Given the description of an element on the screen output the (x, y) to click on. 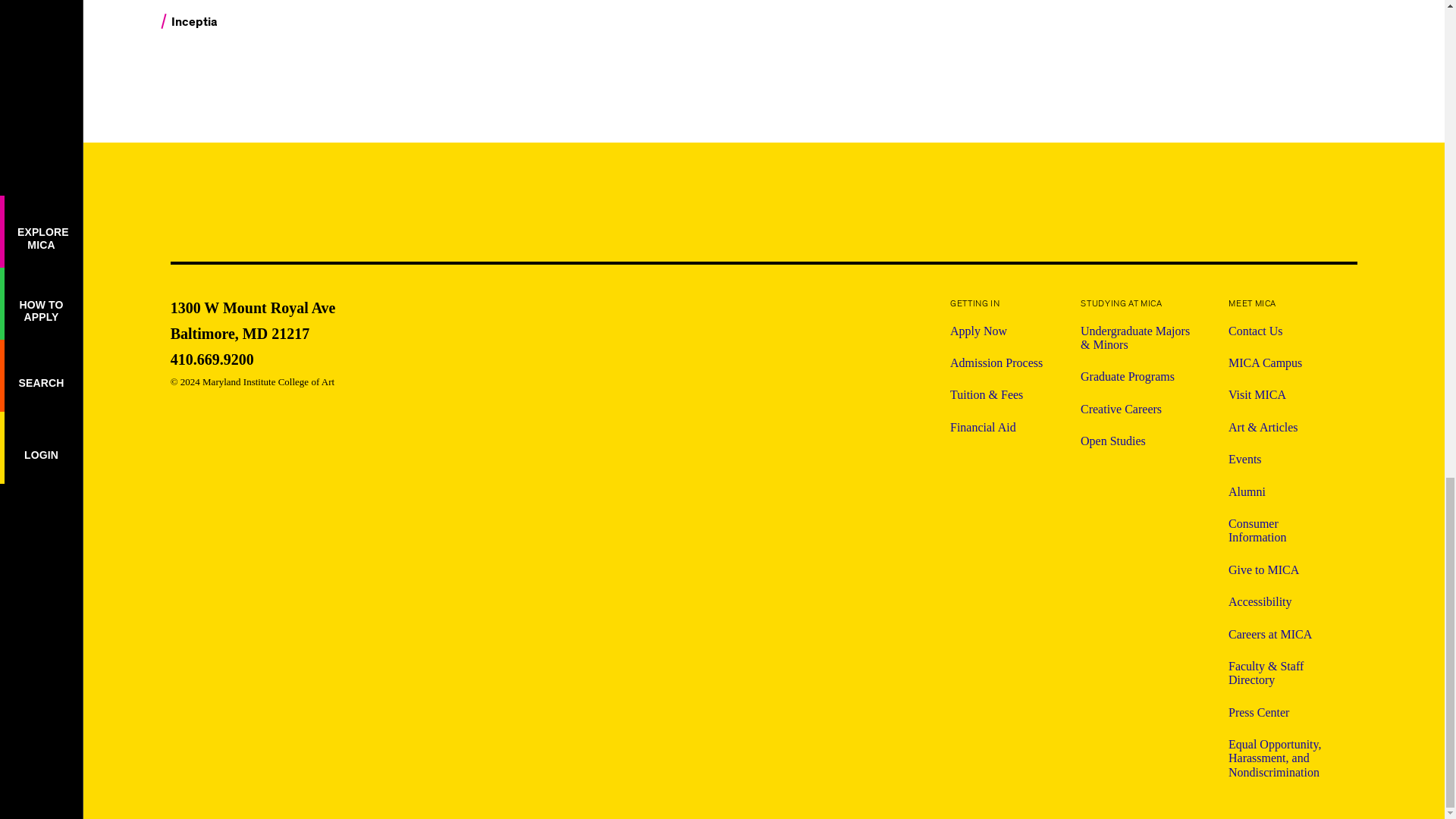
Inceptia (253, 318)
Apply Now (270, 24)
410.669.9200 (996, 331)
Financial Literacy (253, 359)
Instagram (270, 2)
MICA (1142, 209)
Twitter (272, 197)
YouTube (1302, 210)
Facebook (1183, 211)
